Given the description of an element on the screen output the (x, y) to click on. 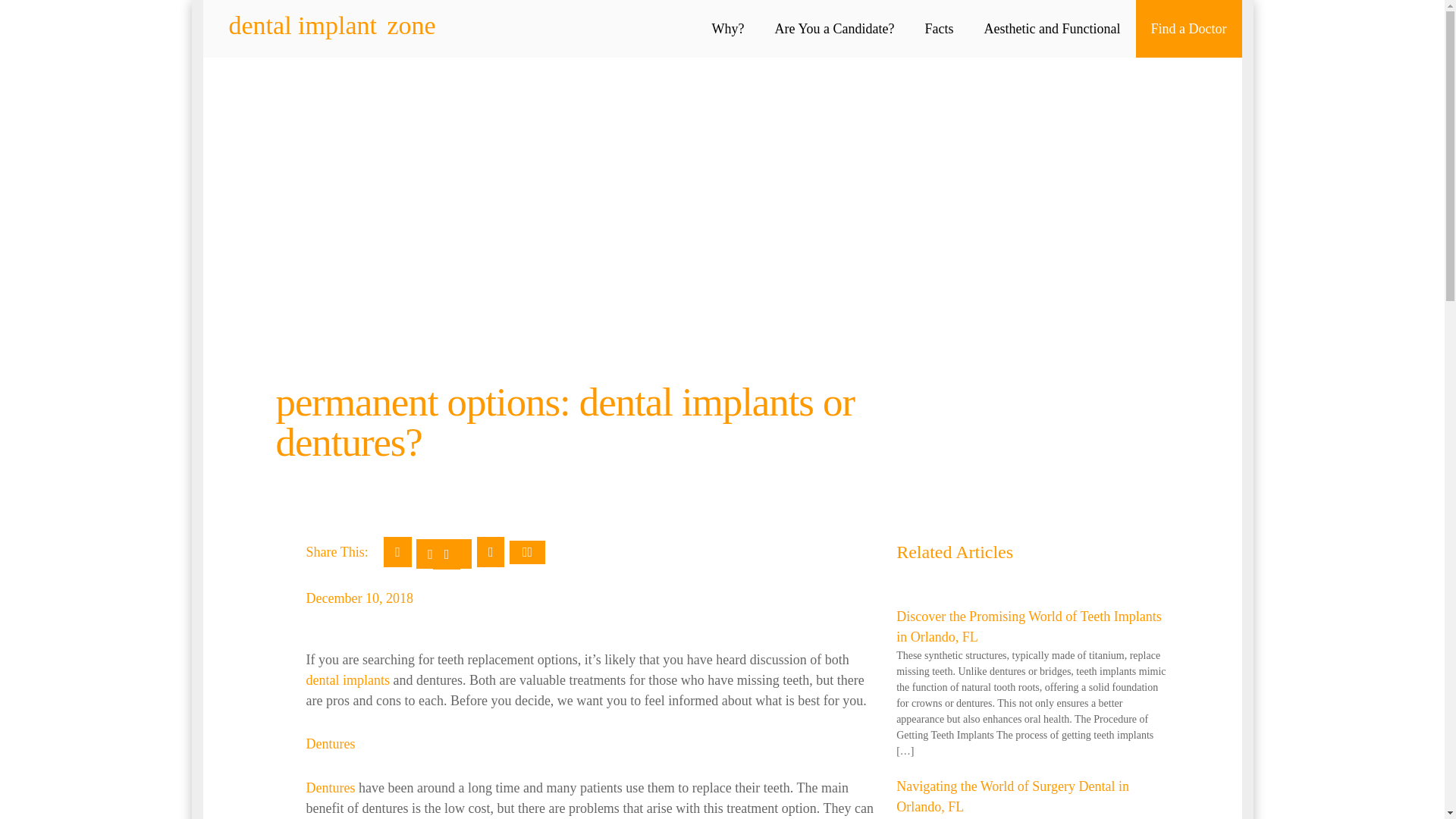
dental implant zone (332, 25)
Are You a Candidate? (835, 28)
Facts (939, 28)
Find a Doctor (1188, 28)
Dentures (330, 787)
Why? (728, 28)
Aesthetic and Functional (1052, 28)
Navigating the World of Surgery Dental in Orlando, FL (1012, 796)
